Given the description of an element on the screen output the (x, y) to click on. 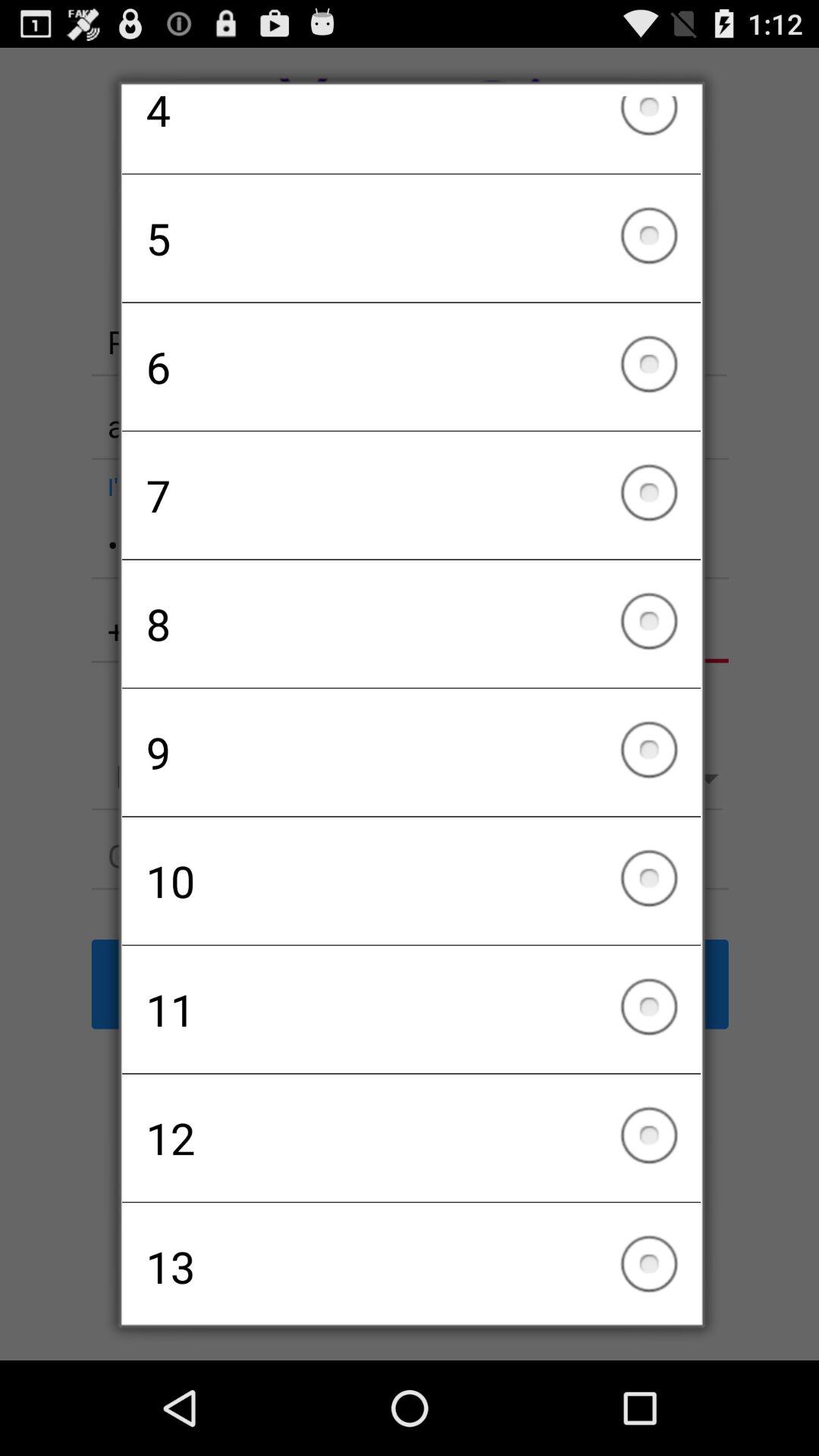
select item above the 10 (411, 752)
